Given the description of an element on the screen output the (x, y) to click on. 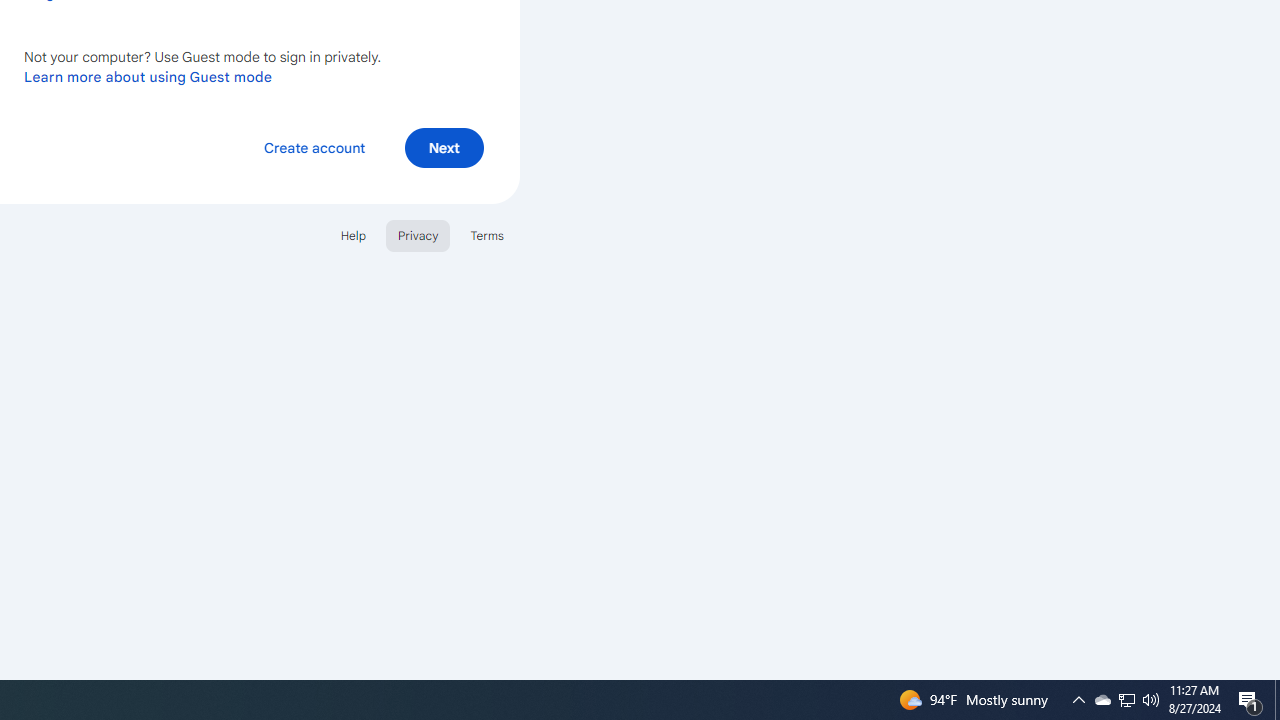
Learn more about using Guest mode (148, 76)
Create account (314, 146)
